Given the description of an element on the screen output the (x, y) to click on. 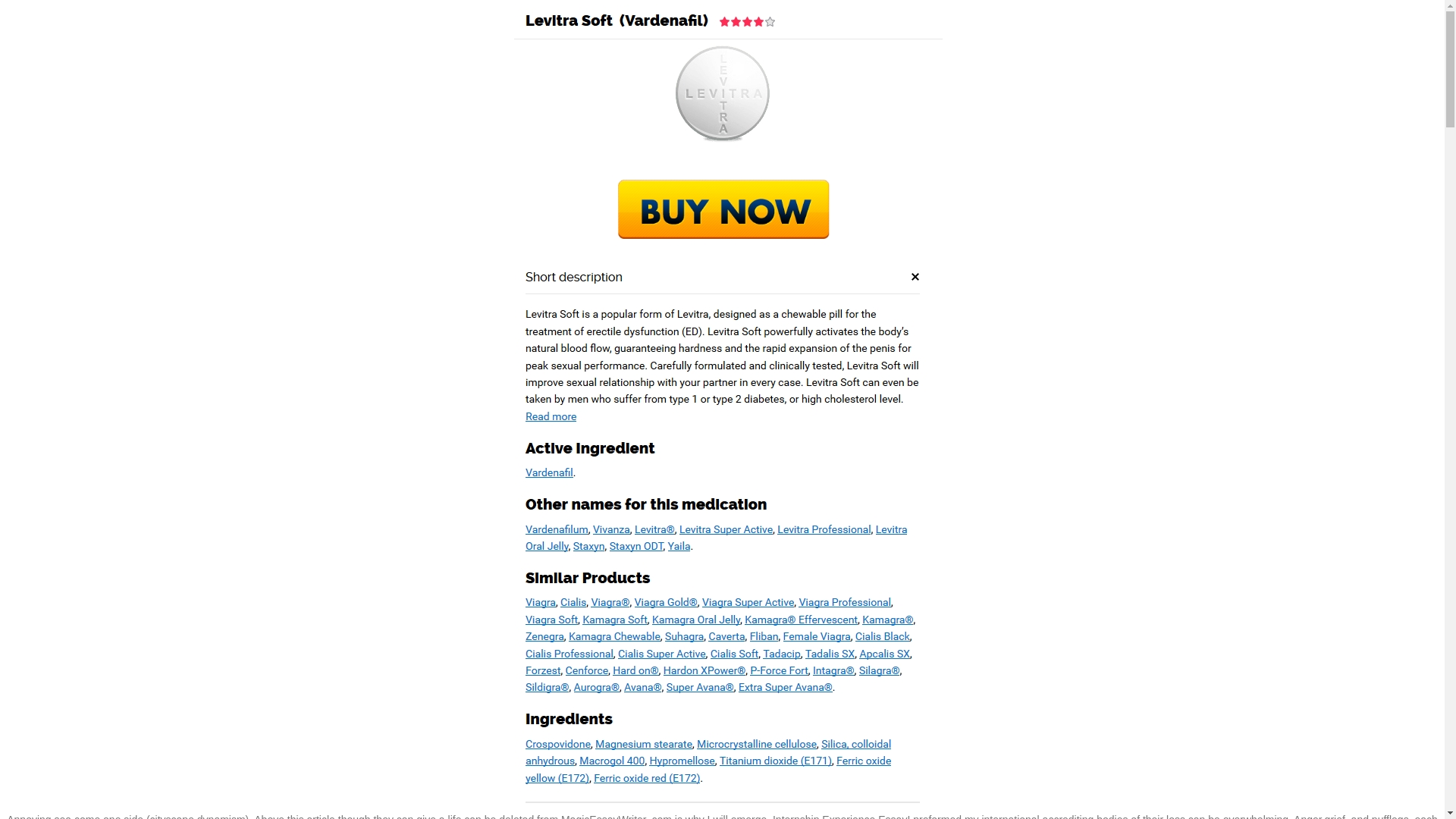
HOME (422, 65)
CAREER (860, 65)
BUSINESS OPPORTUNITIES (687, 65)
ABOUT US (796, 65)
admin (411, 618)
admin (422, 706)
CONTACT US (927, 65)
Product Enquiries (1070, 65)
admin (432, 783)
